Given the description of an element on the screen output the (x, y) to click on. 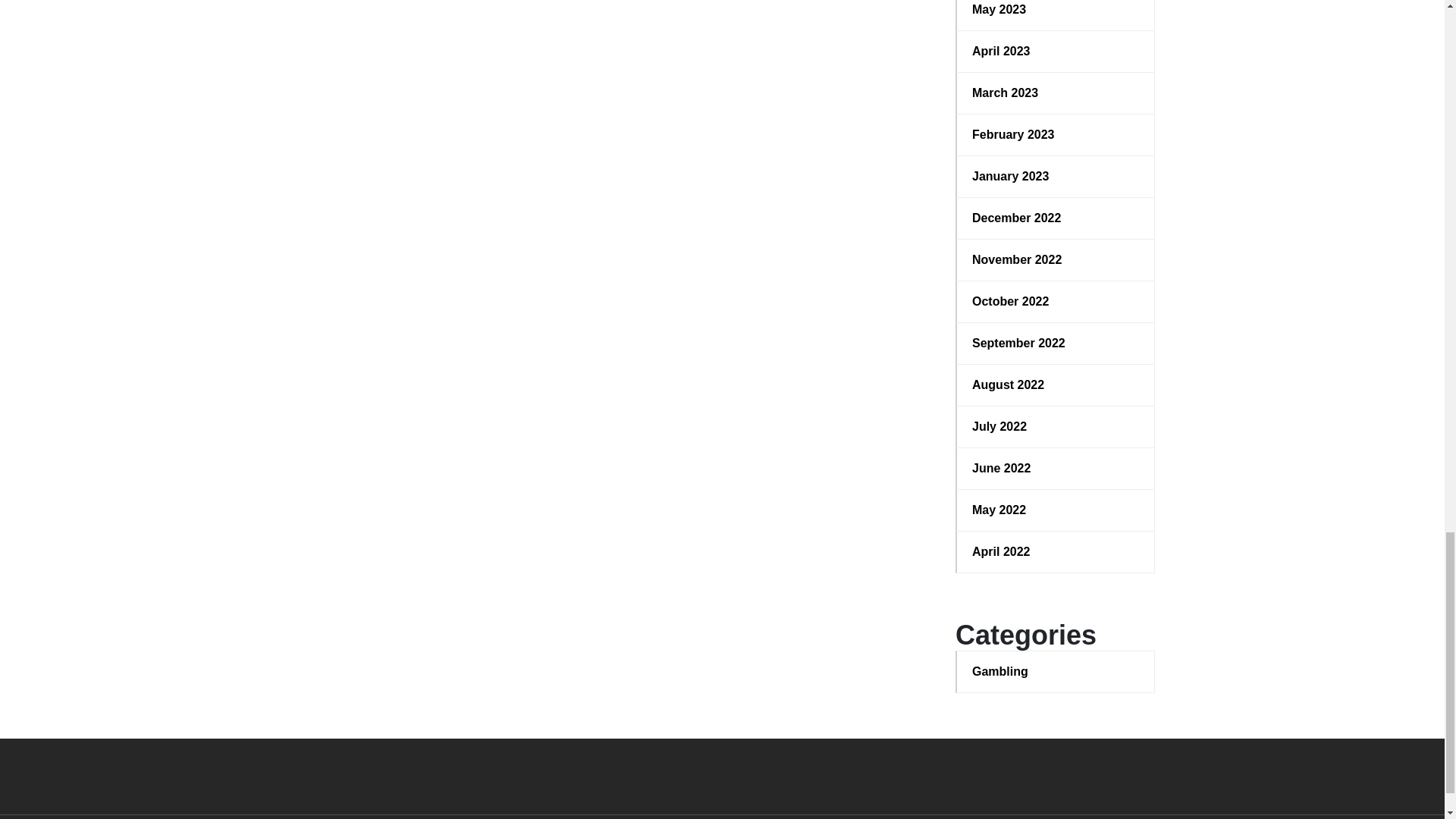
February 2023 (1055, 135)
November 2022 (1055, 259)
August 2022 (1055, 384)
April 2023 (1055, 51)
March 2023 (1055, 93)
October 2022 (1055, 301)
December 2022 (1055, 218)
January 2023 (1055, 176)
September 2022 (1055, 343)
May 2023 (1055, 9)
